Given the description of an element on the screen output the (x, y) to click on. 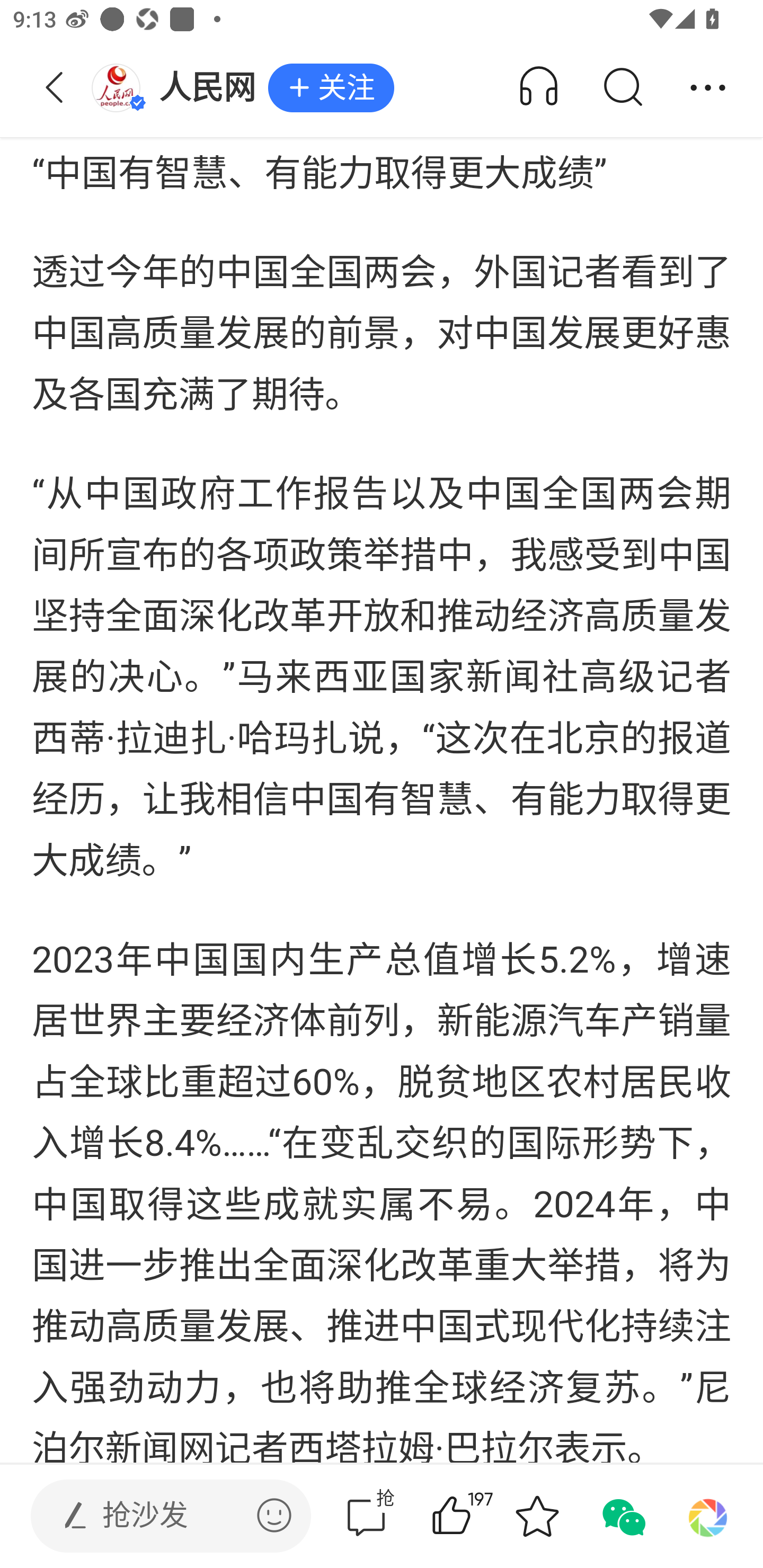
人民网 (179, 87)
搜索  (622, 87)
分享  (707, 87)
 返回 (54, 87)
 关注 (330, 88)
发表评论  抢沙发 发表评论  (155, 1516)
抢评论  抢 评论 (365, 1516)
197赞 (476, 1516)
收藏  (536, 1516)
分享到微信  (622, 1516)
分享到朋友圈 (707, 1516)
 (274, 1515)
